Given the description of an element on the screen output the (x, y) to click on. 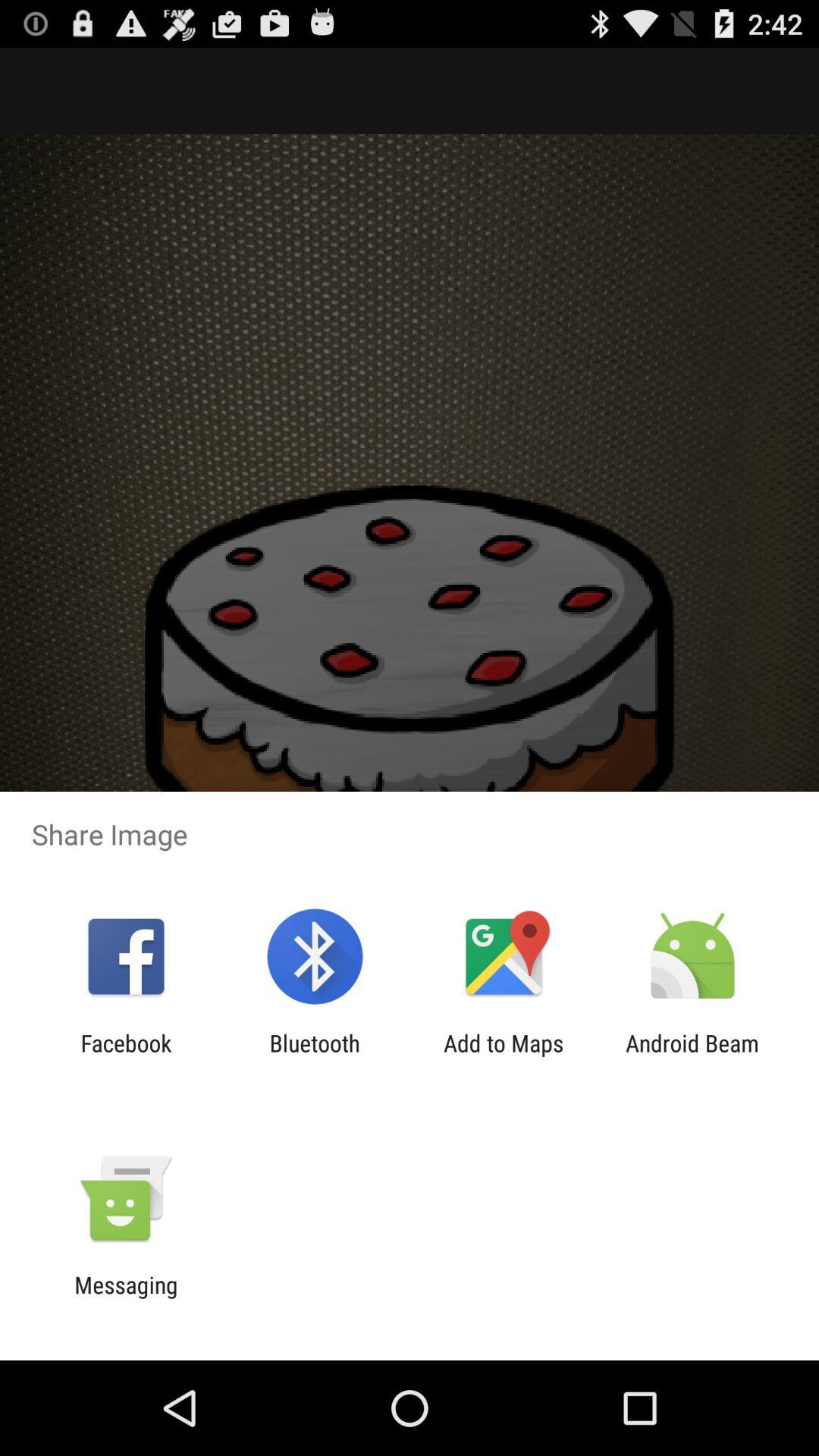
turn off the facebook app (125, 1056)
